Given the description of an element on the screen output the (x, y) to click on. 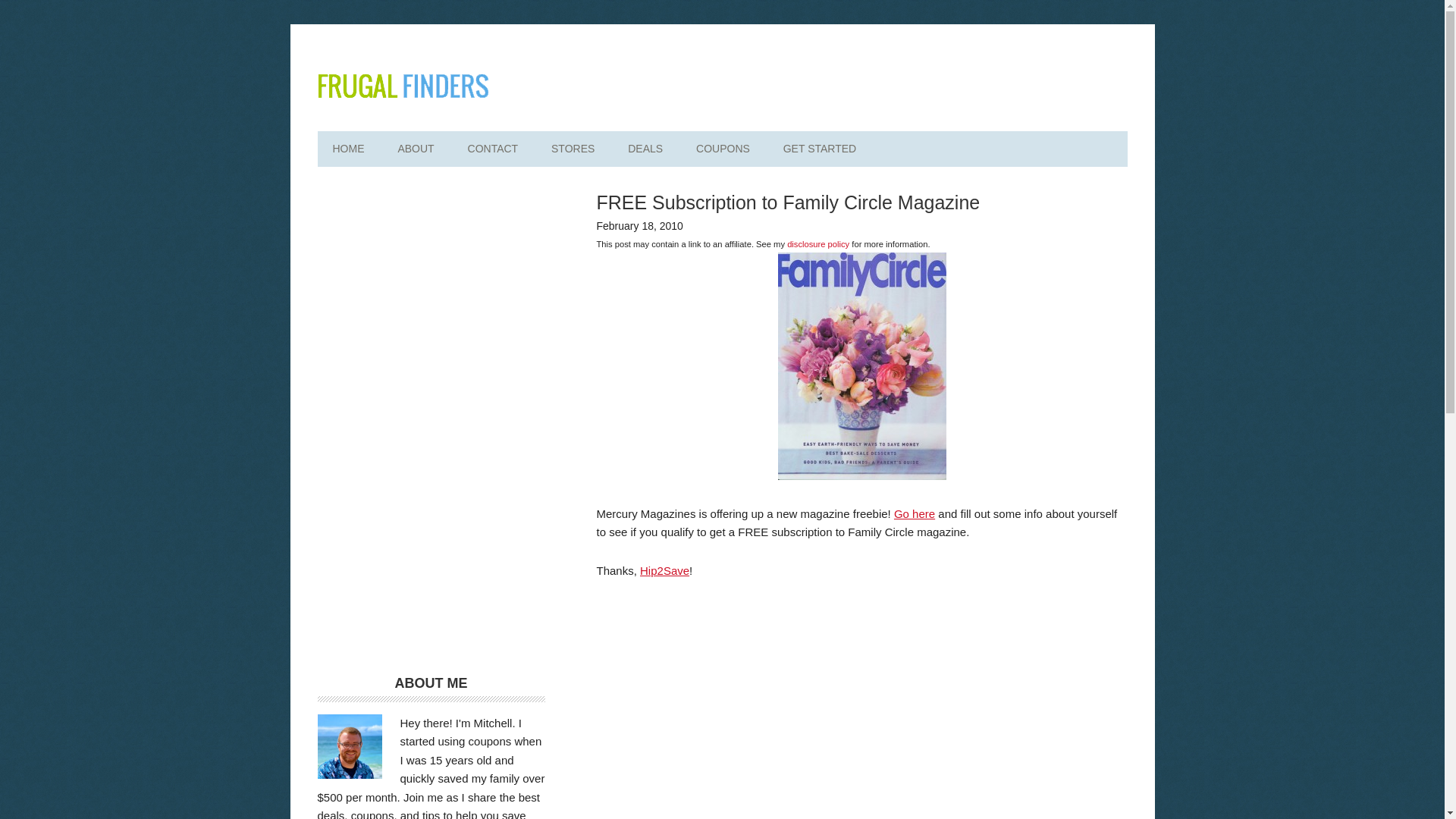
Frugal Finders (402, 84)
COUPONS (723, 149)
GET STARTED (819, 149)
Affiliate Link Disclosure Policy (817, 243)
CONTACT (493, 149)
DEALS (645, 149)
ABOUT (414, 149)
Go here (913, 513)
disclosure policy (817, 243)
HOME (347, 149)
